Given the description of an element on the screen output the (x, y) to click on. 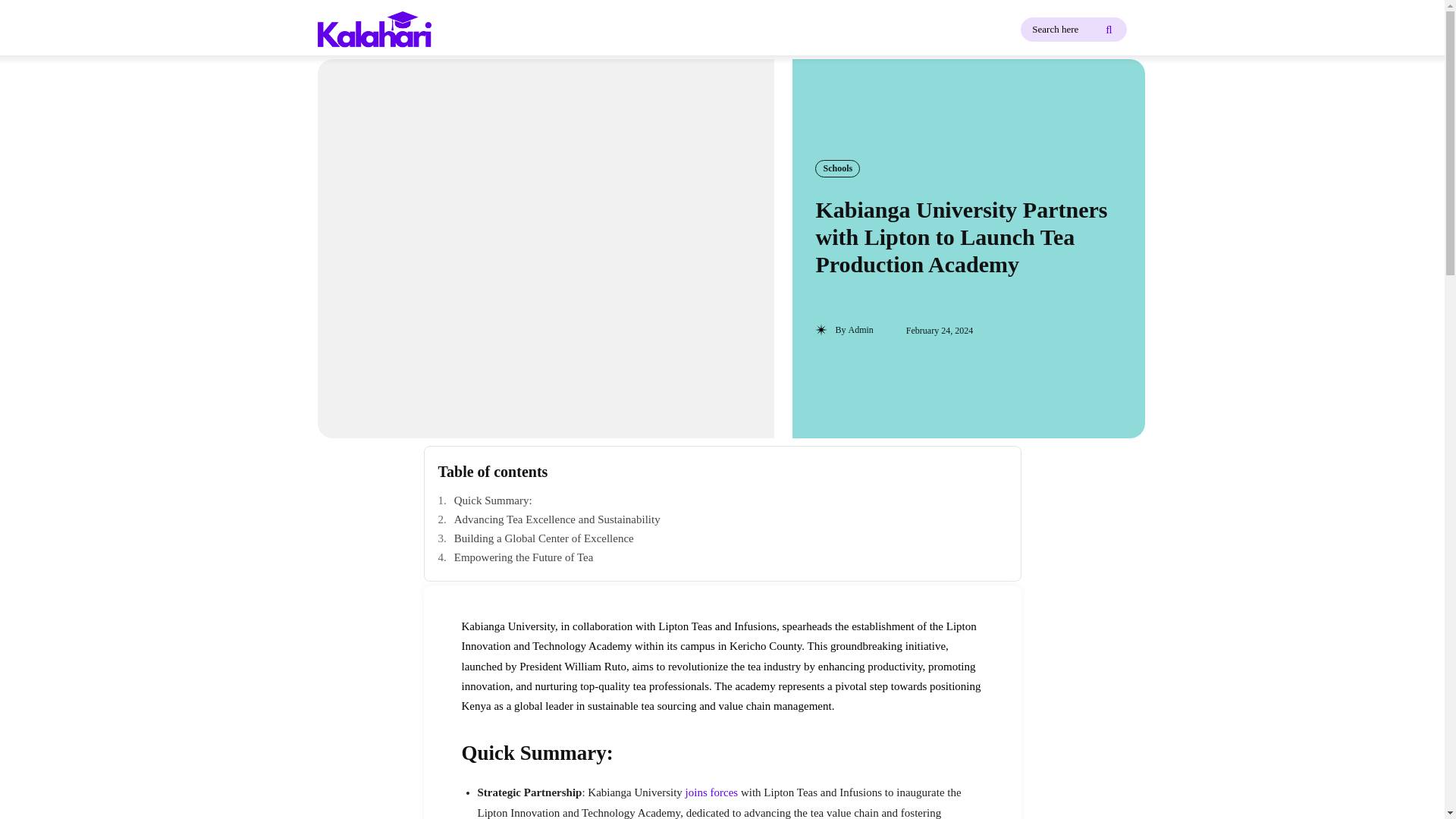
Empowering the Future of Tea (722, 557)
Building a Global Center of Excellence (722, 538)
Advancing Tea Excellence and Sustainability (722, 519)
joins forces (711, 792)
Schools (837, 167)
Admin (859, 329)
Quick Summary: (722, 500)
